Given the description of an element on the screen output the (x, y) to click on. 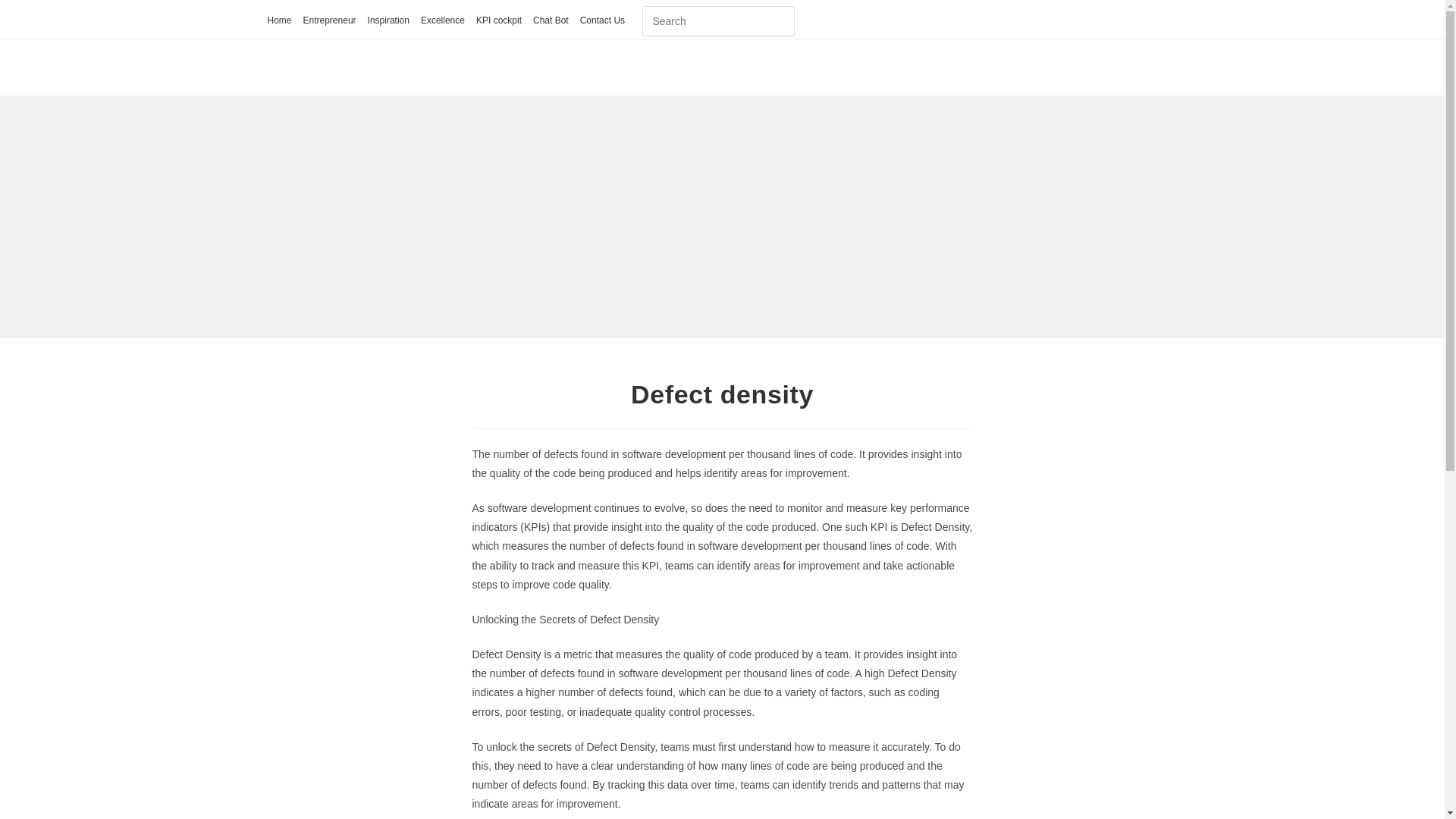
Chat Bot (550, 21)
Entrepreneur (329, 21)
Inspiration (388, 21)
Home (278, 21)
Contact Us (601, 21)
KPI cockpit (498, 21)
Excellence (442, 21)
